Given the description of an element on the screen output the (x, y) to click on. 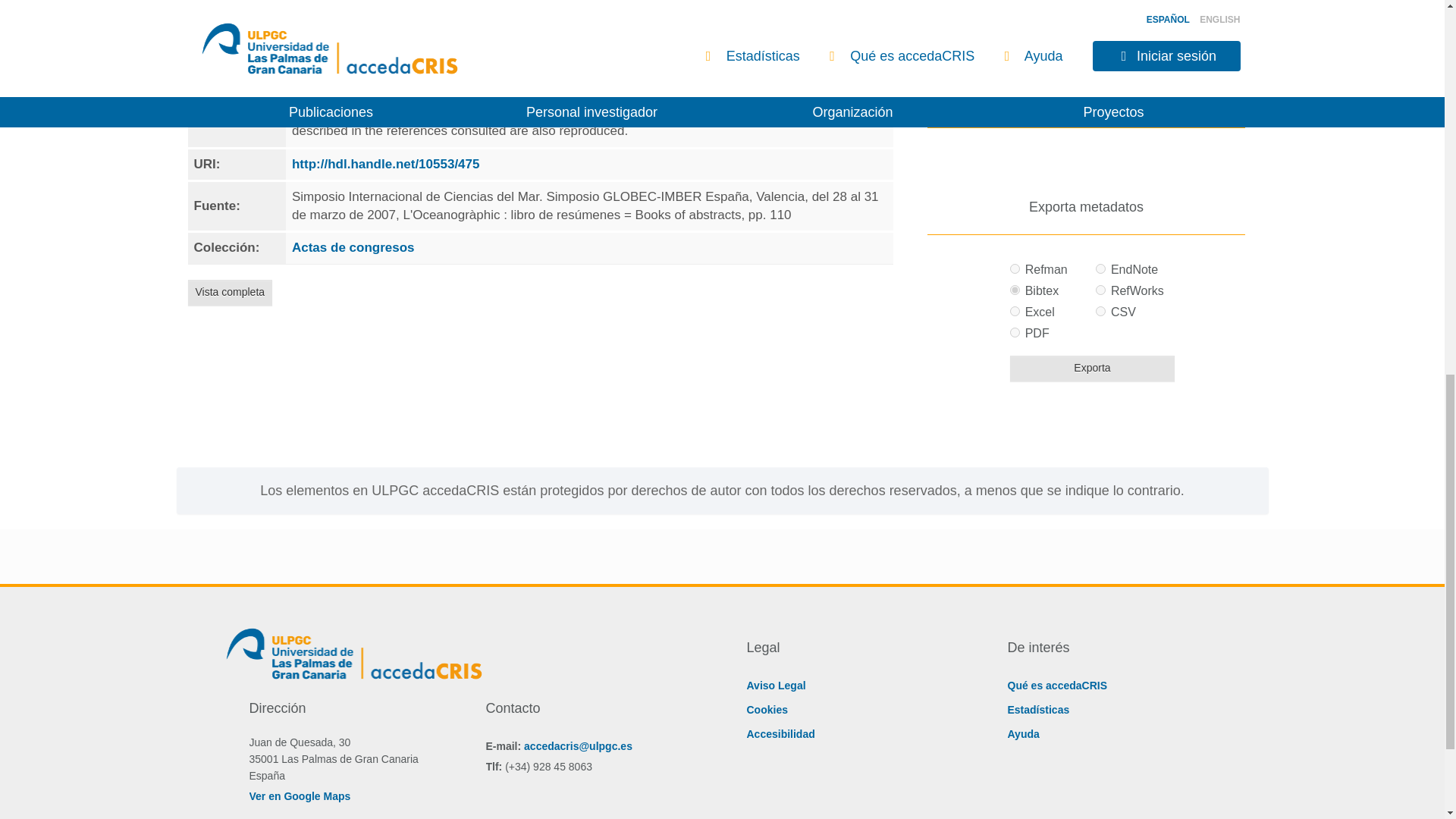
endnote (1100, 268)
excel (1015, 311)
refman (1015, 268)
refworks (1100, 289)
pdf (1015, 332)
csv (1100, 311)
bibtex (1015, 289)
Actas de congresos (353, 247)
Vista completa (230, 292)
Exporta (1092, 368)
